Given the description of an element on the screen output the (x, y) to click on. 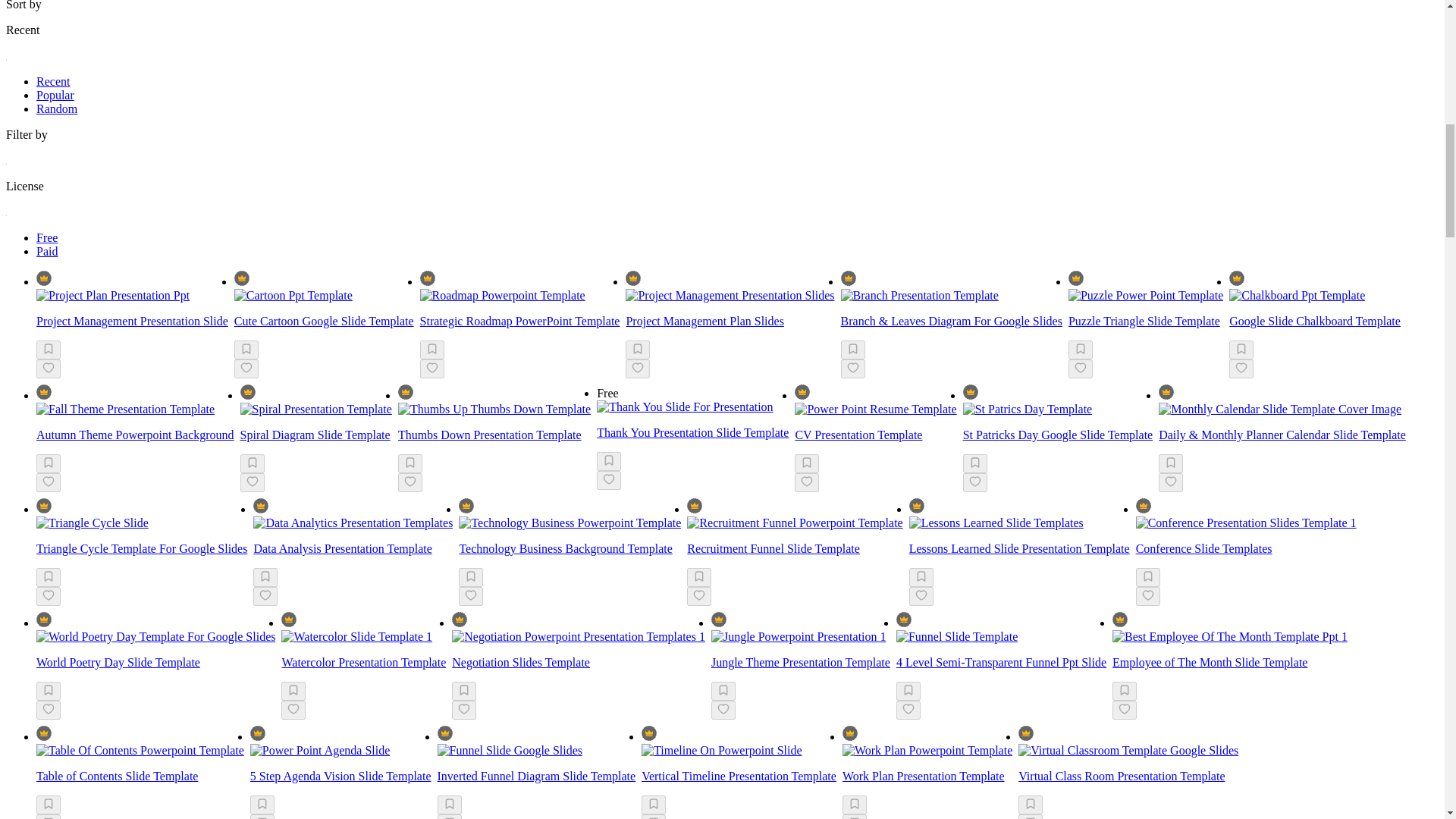
Free (47, 237)
Paid (47, 250)
Add to collections (246, 349)
Add to collections (48, 349)
Like this template (252, 482)
Add to collections (432, 349)
Add to collections (252, 463)
Like this template (637, 368)
Like this template (246, 368)
Like this template (432, 368)
Popular (55, 94)
Project Management Presentation Slide (132, 320)
Like this template (1240, 368)
Like this template (1080, 368)
Add to collections (637, 349)
